Given the description of an element on the screen output the (x, y) to click on. 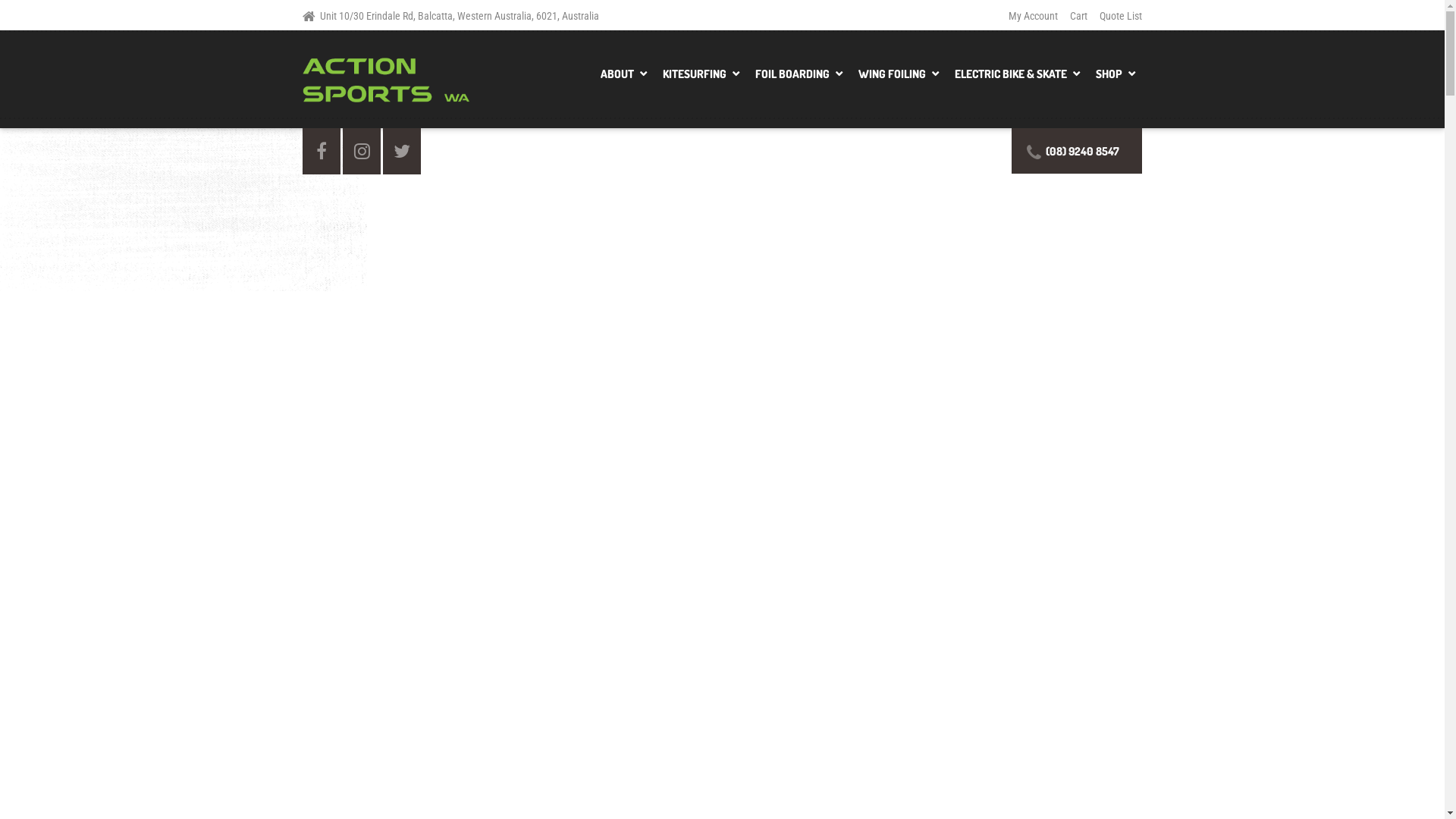
ELECTRIC BIKE & SKATE Element type: text (1015, 79)
My Account Element type: text (1035, 15)
KITESURFING Element type: text (699, 79)
SHOP Element type: text (1114, 79)
ABOUT Element type: text (622, 79)
Cart Element type: text (1078, 15)
(08) 9240 8547 Element type: text (1076, 149)
WING FOILING Element type: text (897, 79)
FOIL BOARDING Element type: text (797, 79)
Quote List Element type: text (1117, 15)
